Given the description of an element on the screen output the (x, y) to click on. 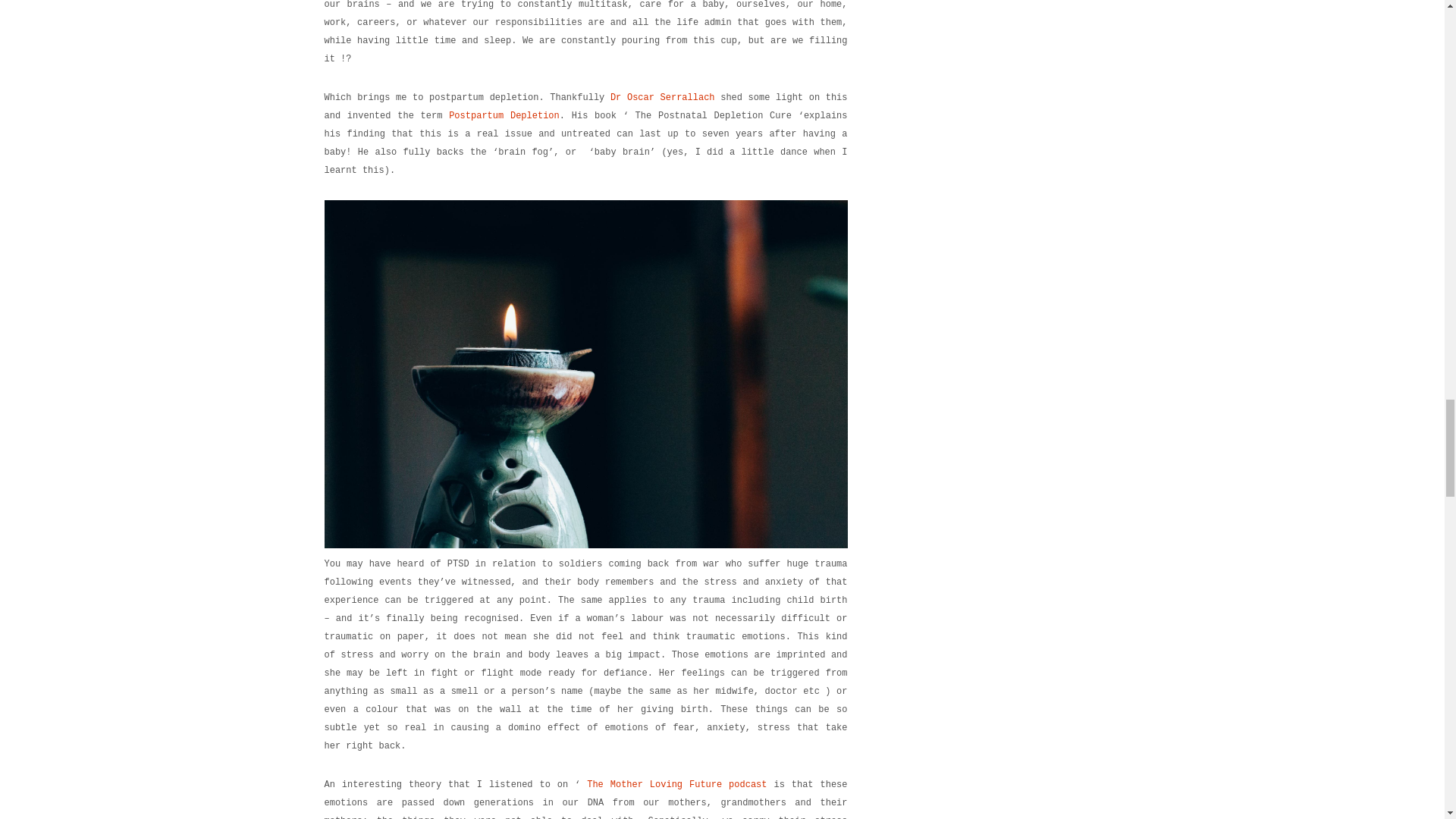
The Mother Loving Future podcast (676, 784)
Dr Oscar Serrallach (662, 97)
Postpartum Depletion (503, 115)
